Given the description of an element on the screen output the (x, y) to click on. 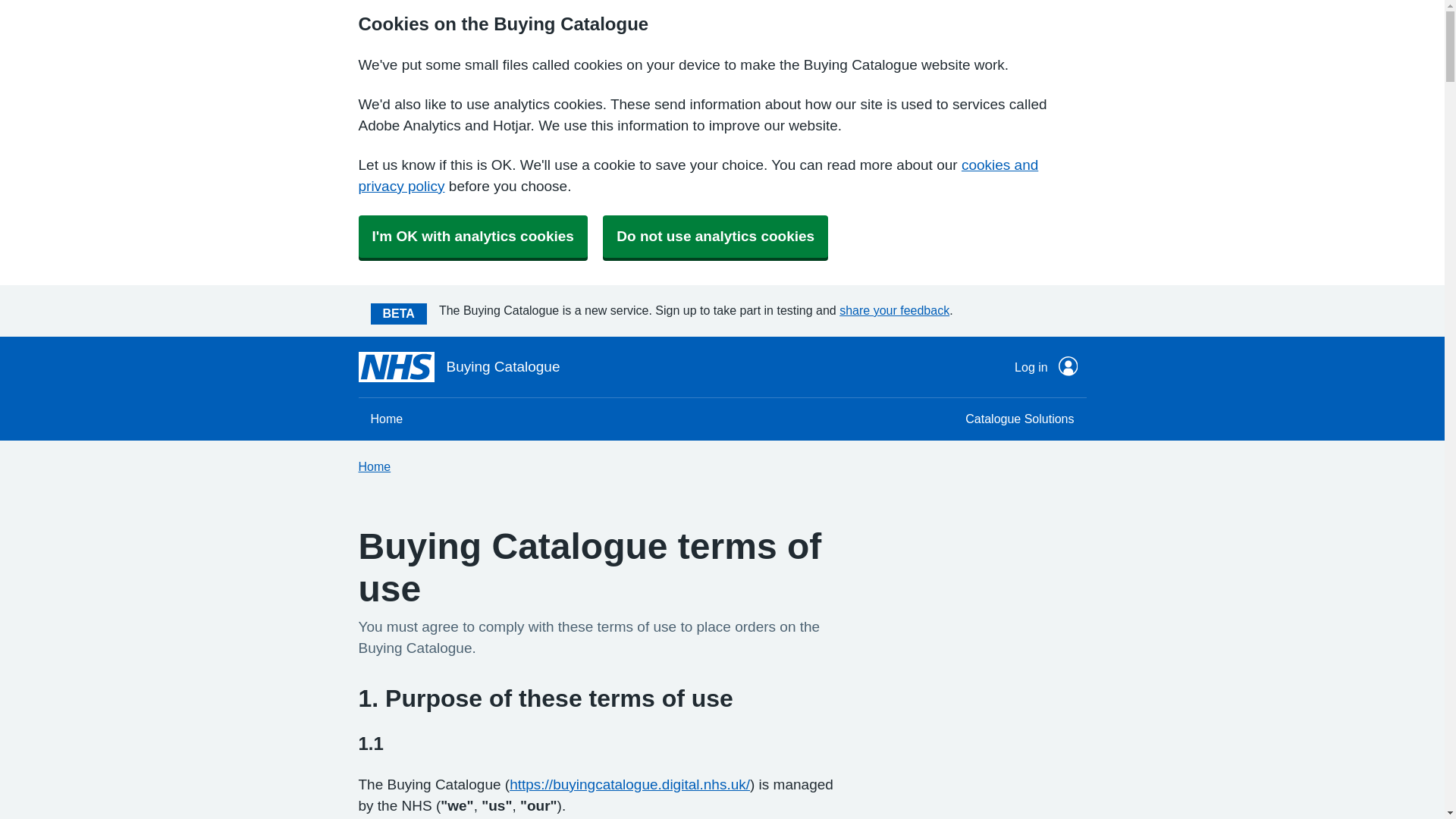
Log in (1045, 366)
share your feedback (894, 309)
Home (386, 419)
Buying Catalogue (458, 367)
I'm OK with analytics cookies (472, 236)
Home (374, 466)
Catalogue Solutions (1019, 419)
cookies and privacy policy (698, 175)
Do not use analytics cookies (715, 236)
